Given the description of an element on the screen output the (x, y) to click on. 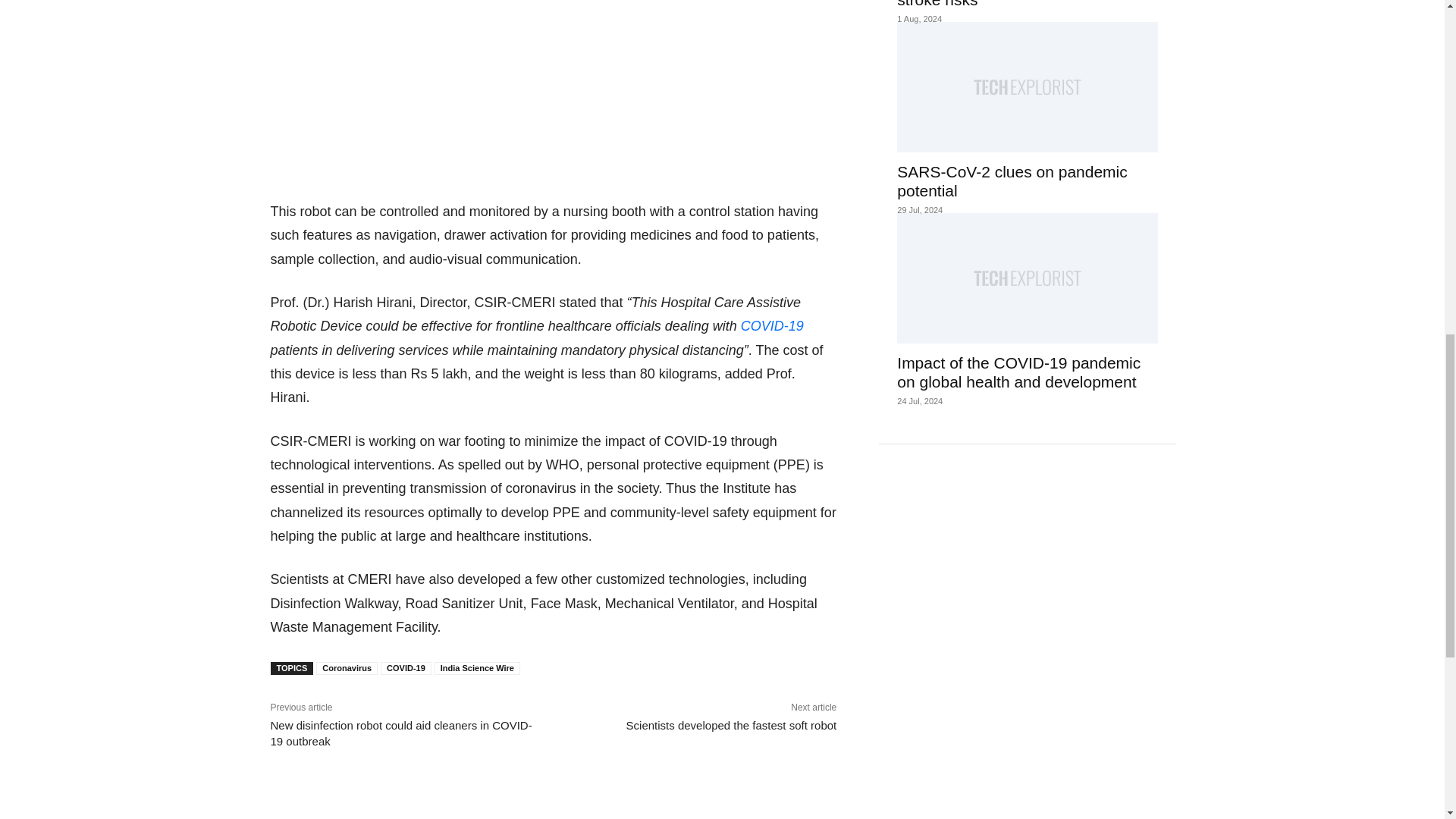
COVID-19 (772, 325)
Coronavirus (346, 667)
COVID-19 (405, 667)
